Given the description of an element on the screen output the (x, y) to click on. 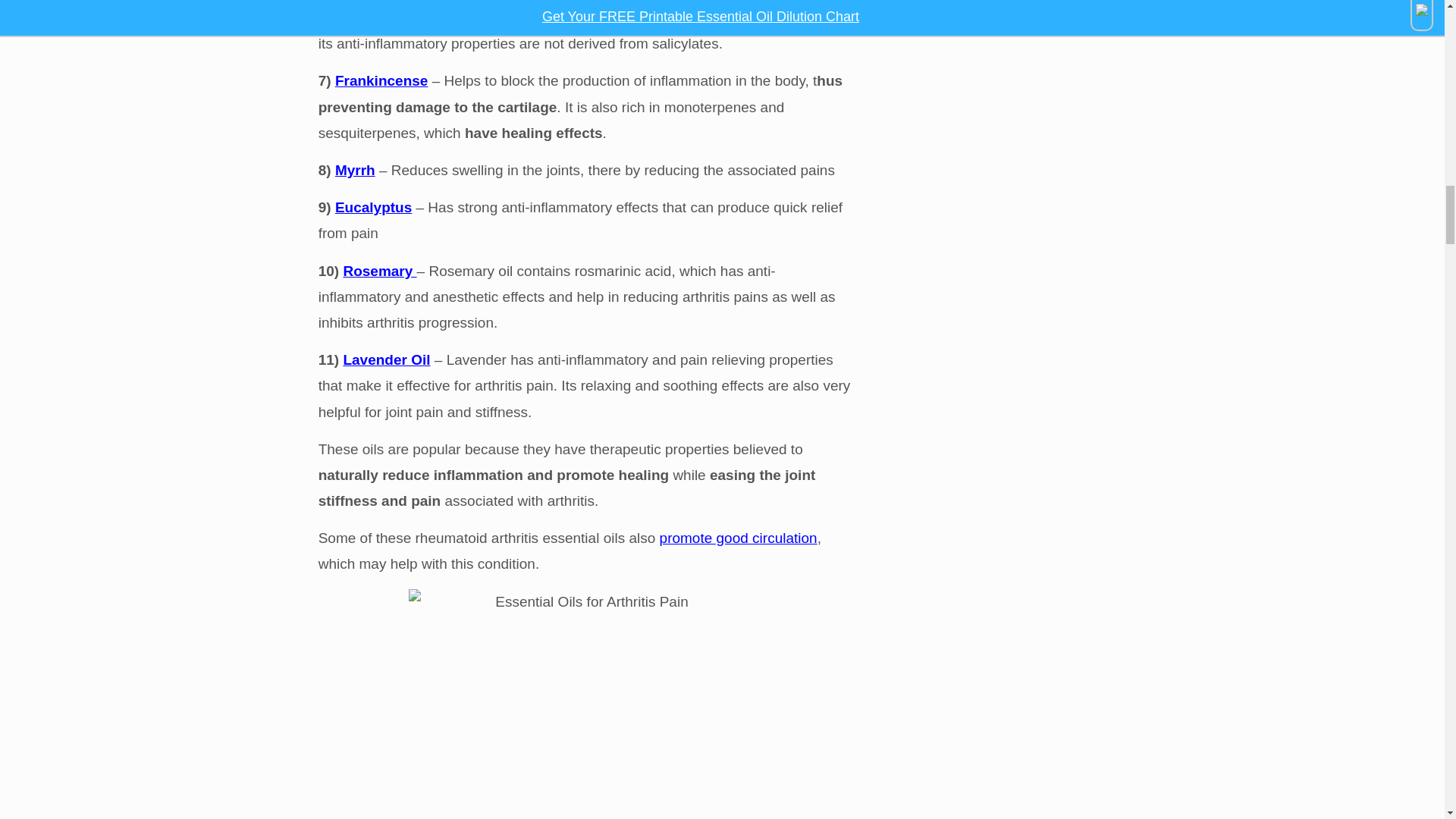
Frankincense (381, 80)
Lavender Oil (385, 359)
Eucalyptus (373, 207)
Myrrh (354, 170)
promote good circulation (737, 537)
Rosemary (379, 270)
